Given the description of an element on the screen output the (x, y) to click on. 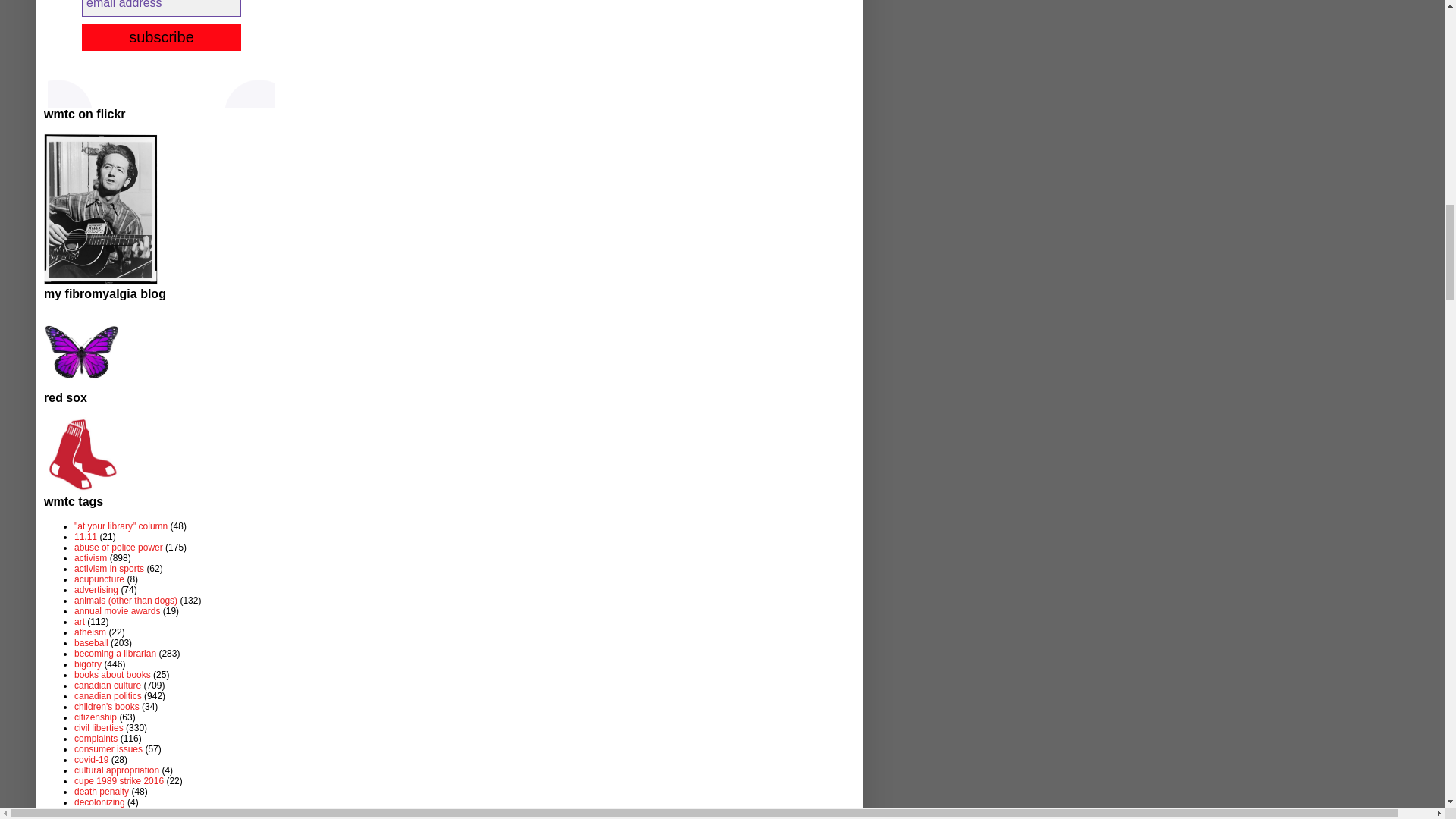
11.11 (85, 536)
art (79, 621)
atheism (90, 632)
advertising (95, 589)
"at your library" column (120, 525)
baseball (90, 643)
bigotry (87, 664)
abuse of police power (118, 547)
acupuncture (98, 579)
activism (90, 557)
annual movie awards (117, 611)
activism in sports (109, 568)
subscribe (161, 37)
becoming a librarian (114, 653)
